Given the description of an element on the screen output the (x, y) to click on. 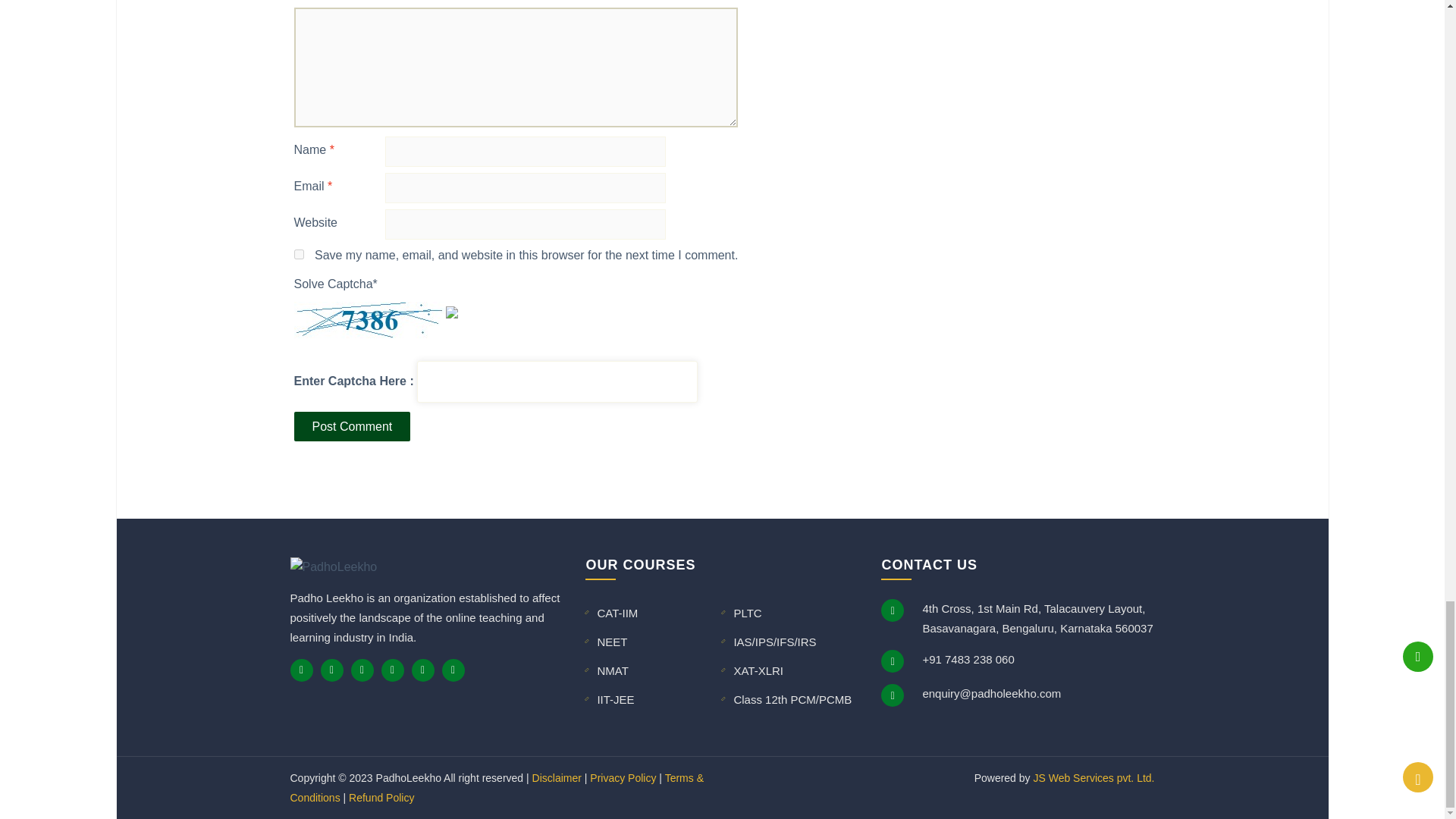
yes (299, 254)
Post Comment (352, 426)
